Given the description of an element on the screen output the (x, y) to click on. 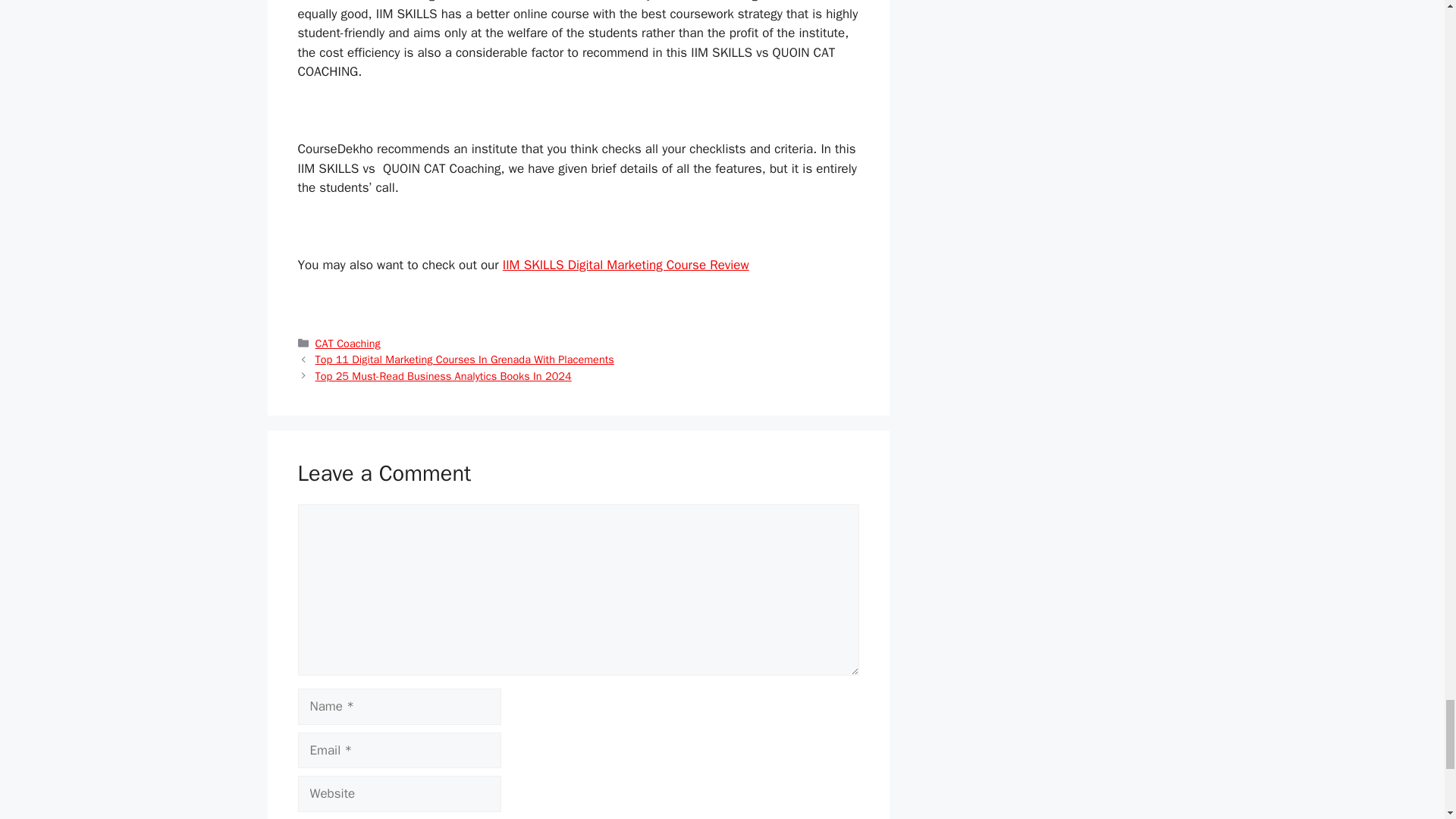
Previous (464, 359)
Next (443, 376)
Top 25 Must-Read Business Analytics Books In 2024 (443, 376)
IIM SKILLS Digital Marketing Course Review (625, 264)
Top 11 Digital Marketing Courses In Grenada With Placements (464, 359)
CAT Coaching (347, 343)
